Given the description of an element on the screen output the (x, y) to click on. 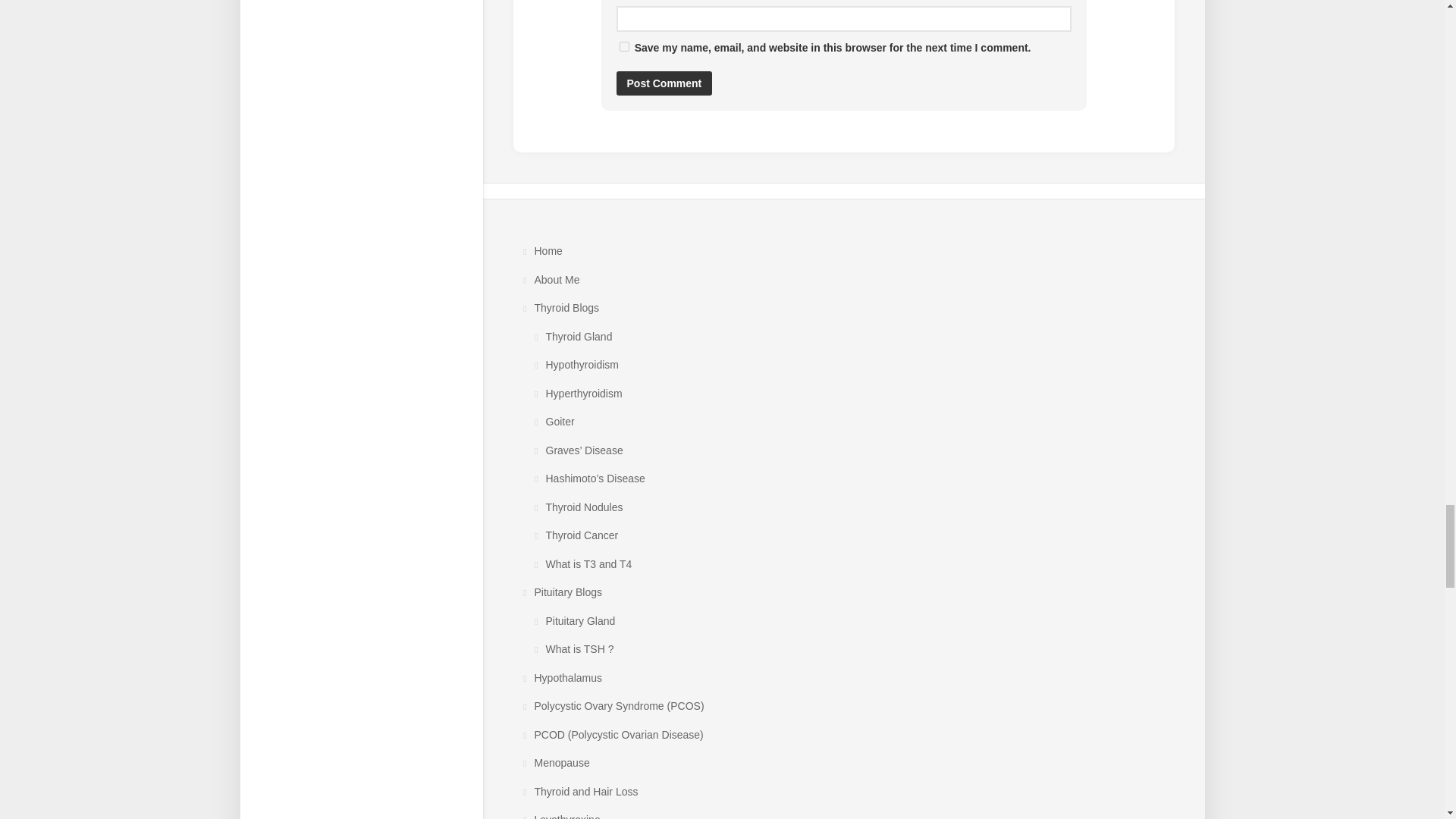
yes (623, 46)
Post Comment (663, 83)
